Given the description of an element on the screen output the (x, y) to click on. 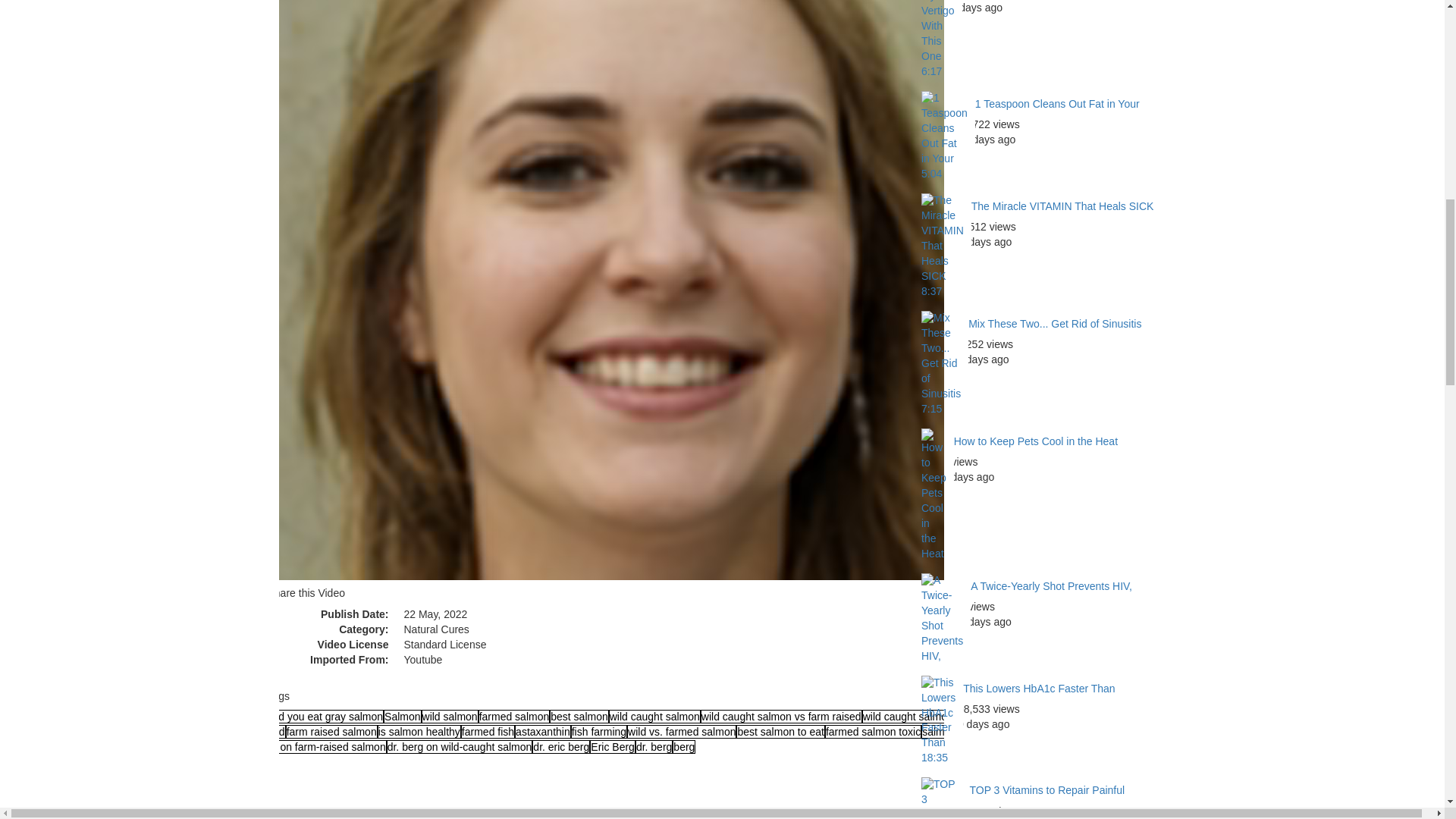
astaxanthin (542, 731)
is salmon healthy (419, 731)
wild caught salmon vs farm raised (780, 716)
wild caught vs farm raised (671, 724)
farm raised salmon (331, 731)
Salmon (402, 716)
wild caught salmon benefits (927, 716)
would you eat gray salmon (320, 716)
best salmon (579, 716)
wild caught salmon (654, 716)
wild vs. farmed salmon (681, 731)
wild salmon (450, 716)
fish farming (598, 731)
farmed salmon (514, 716)
farmed fish (488, 731)
